Given the description of an element on the screen output the (x, y) to click on. 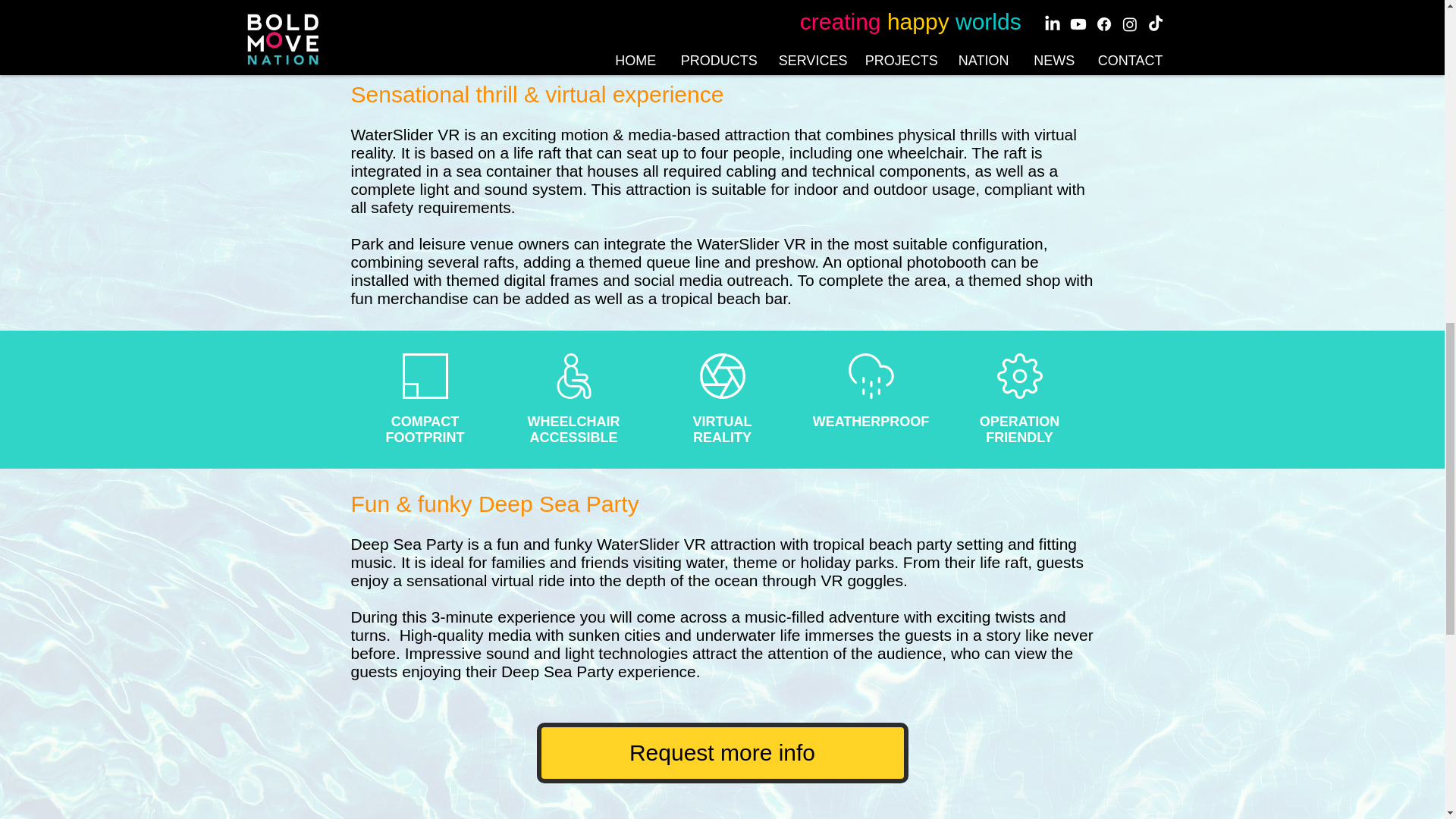
Request more info (722, 752)
